Given the description of an element on the screen output the (x, y) to click on. 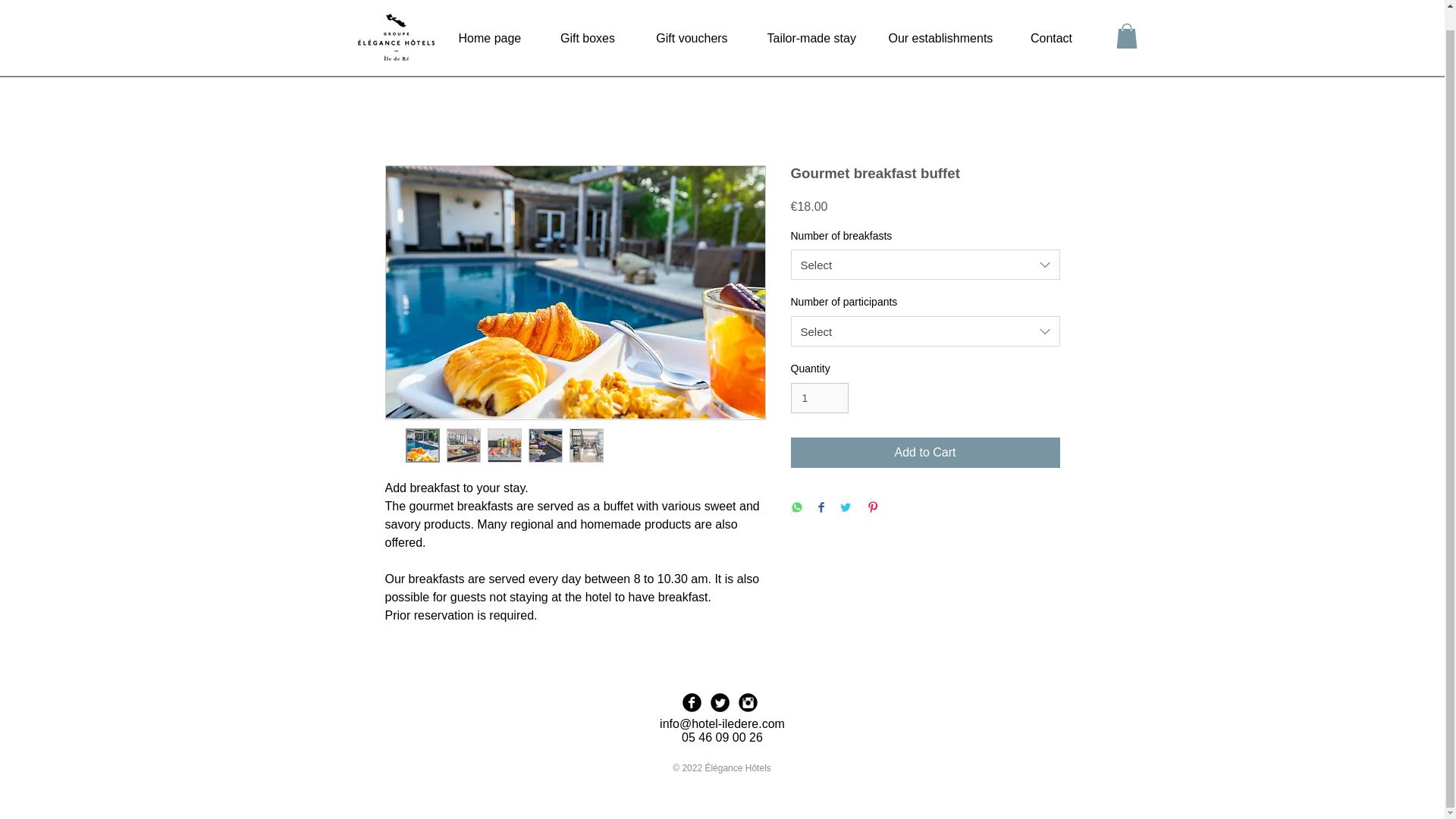
Select (924, 331)
1 (818, 398)
Tailor-made stay (808, 18)
Add to Cart (924, 452)
Select (924, 264)
Home page (489, 18)
Our establishments (939, 18)
Contact (1051, 18)
Gift vouchers (691, 18)
Gift boxes (588, 18)
05 46 09 00 26 (721, 737)
